Given the description of an element on the screen output the (x, y) to click on. 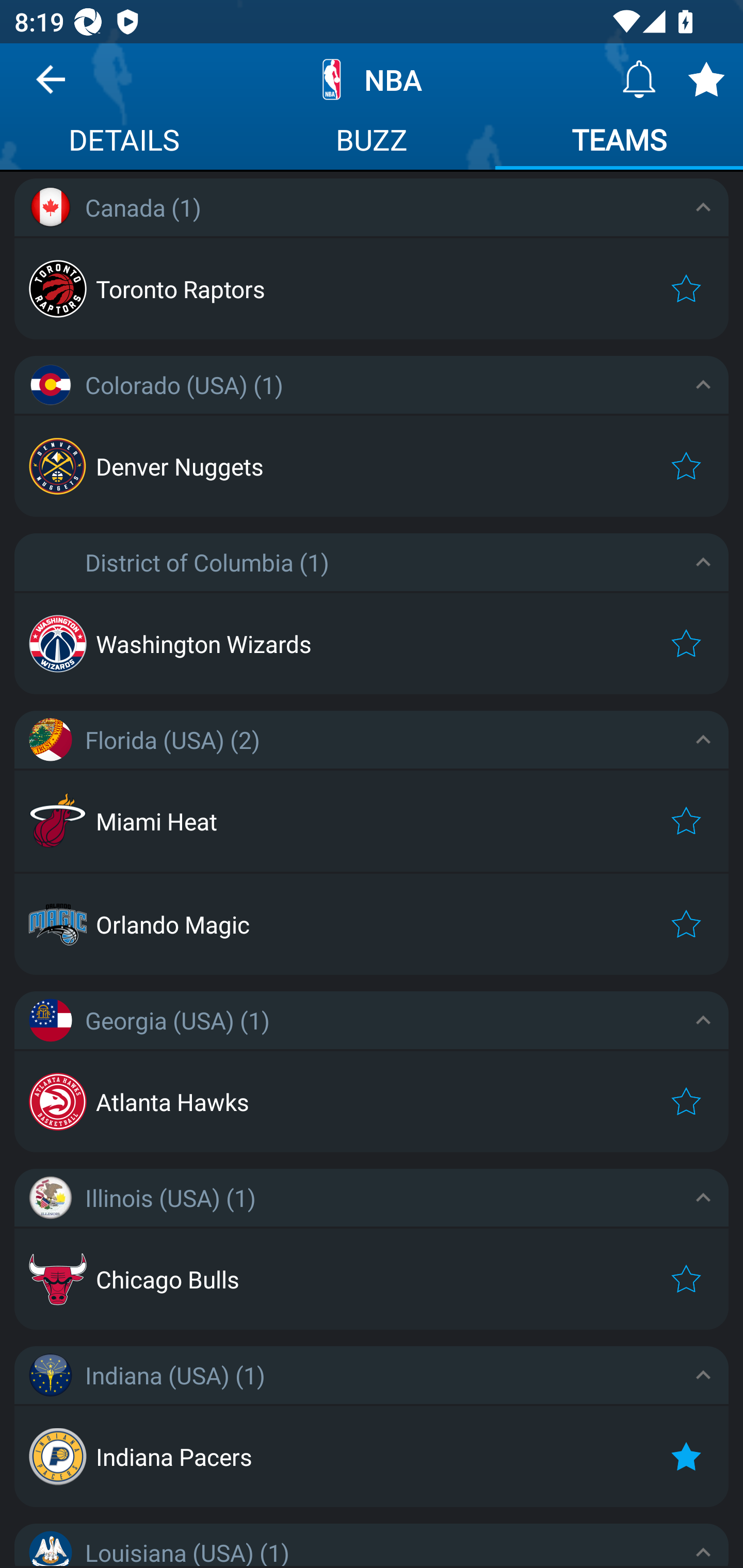
Navigate up (50, 86)
DETAILS (123, 142)
BUZZ (371, 142)
TEAMS (619, 142)
Canada (1) (371, 207)
Toronto Raptors (371, 288)
Colorado (USA) (1) (371, 384)
Denver Nuggets (371, 466)
District of Columbia (1) (371, 562)
Washington Wizards (371, 643)
Florida (USA) (2) (371, 739)
Miami Heat (371, 820)
Orlando Magic (371, 924)
Georgia (USA) (1) (371, 1019)
Atlanta Hawks (371, 1101)
Illinois (USA) (1) (371, 1197)
Chicago Bulls (371, 1279)
Indiana (USA) (1) (371, 1374)
Indiana Pacers (371, 1456)
